Given the description of an element on the screen output the (x, y) to click on. 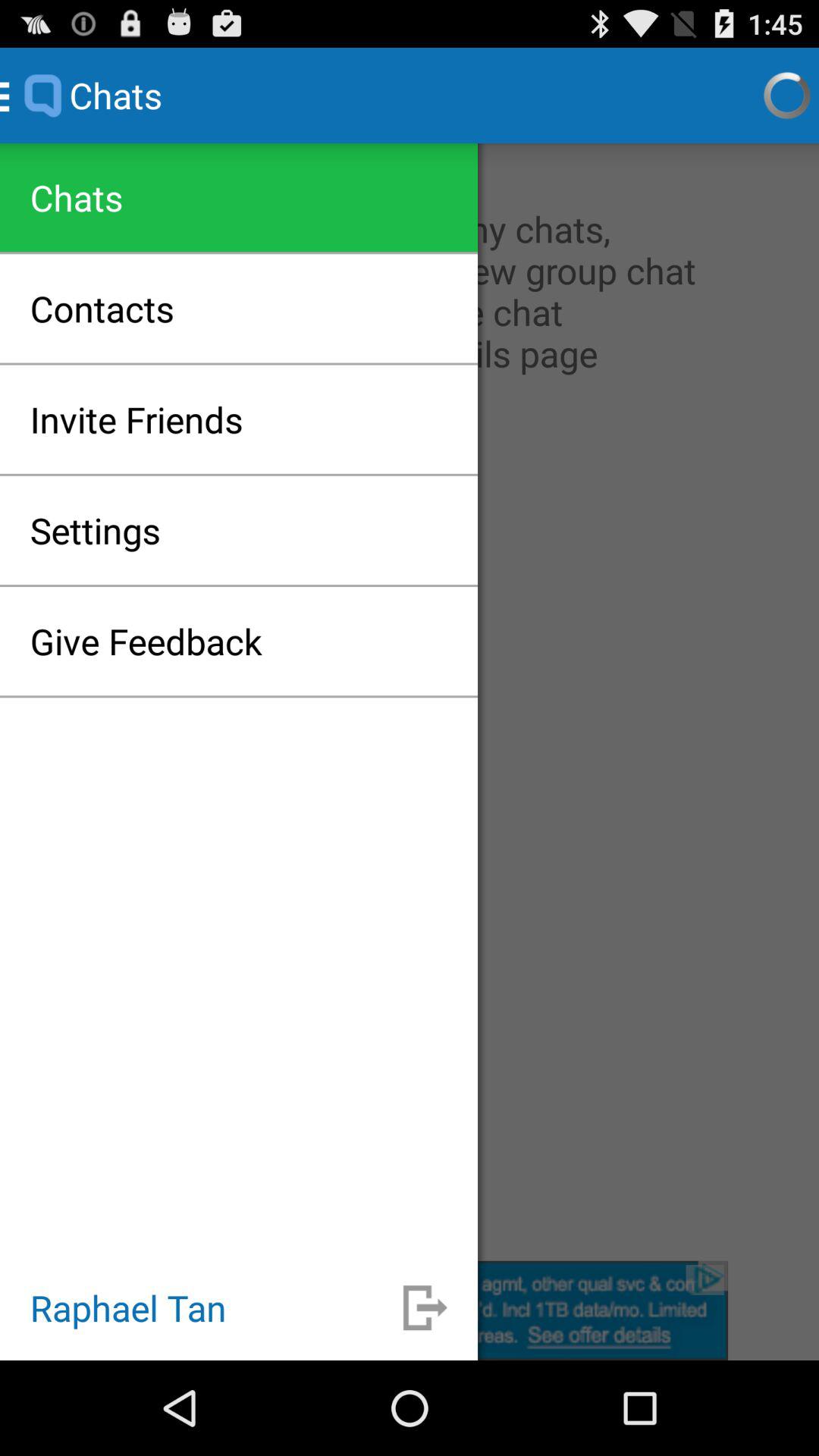
press icon above settings item (136, 419)
